Given the description of an element on the screen output the (x, y) to click on. 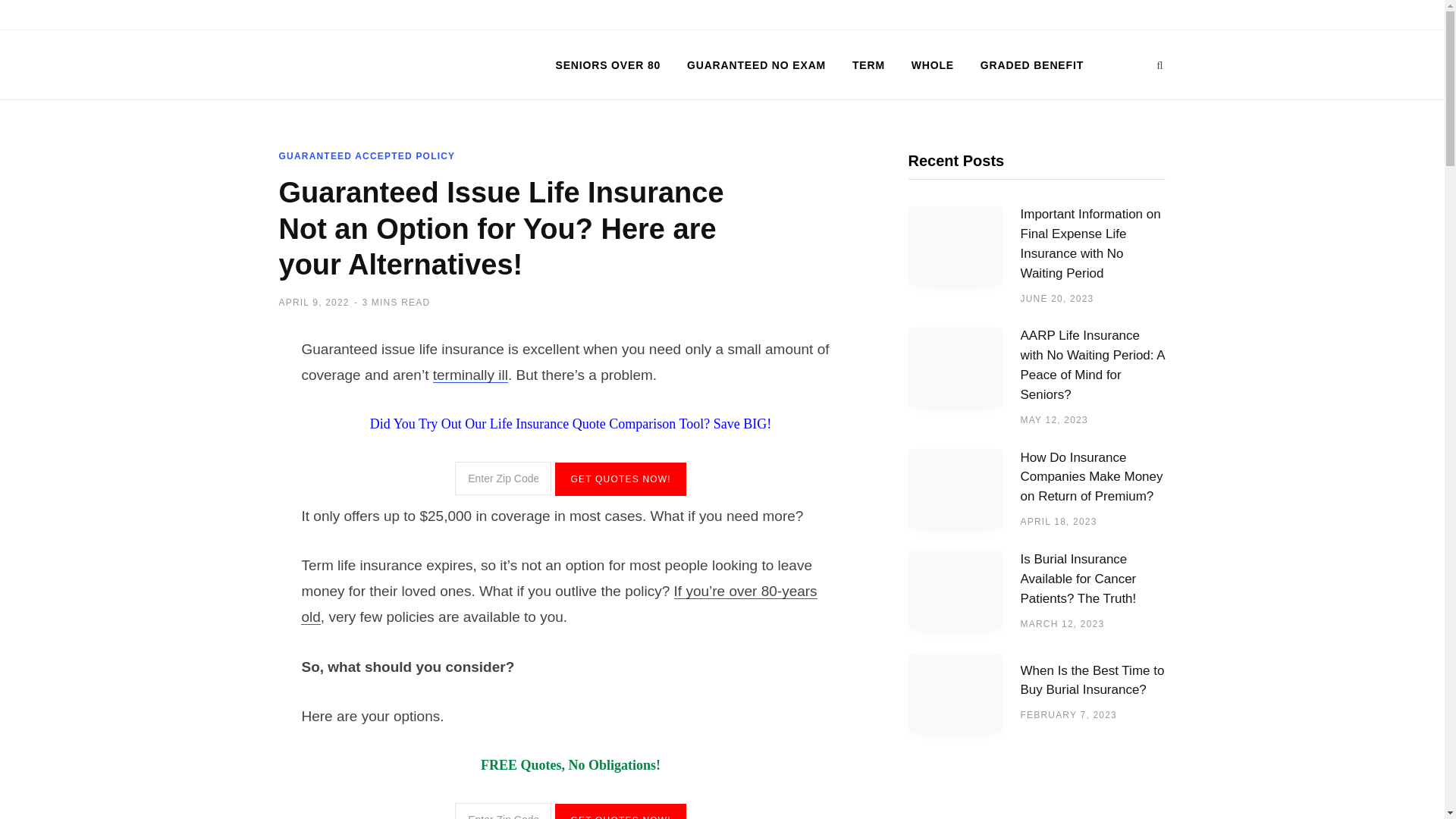
GUARANTEED ACCEPTED POLICY (367, 155)
GUARANTEED NO EXAM (756, 65)
Get Quotes Now! (619, 479)
Get Quotes Now! (619, 479)
APRIL 9, 2022 (314, 302)
terminally ill (470, 374)
Get Quotes Now! (619, 811)
SENIORS OVER 80 (608, 65)
Get Quotes Now! (619, 811)
Affordable Senior Life Insurance: Cost and Coverage (392, 65)
